Given the description of an element on the screen output the (x, y) to click on. 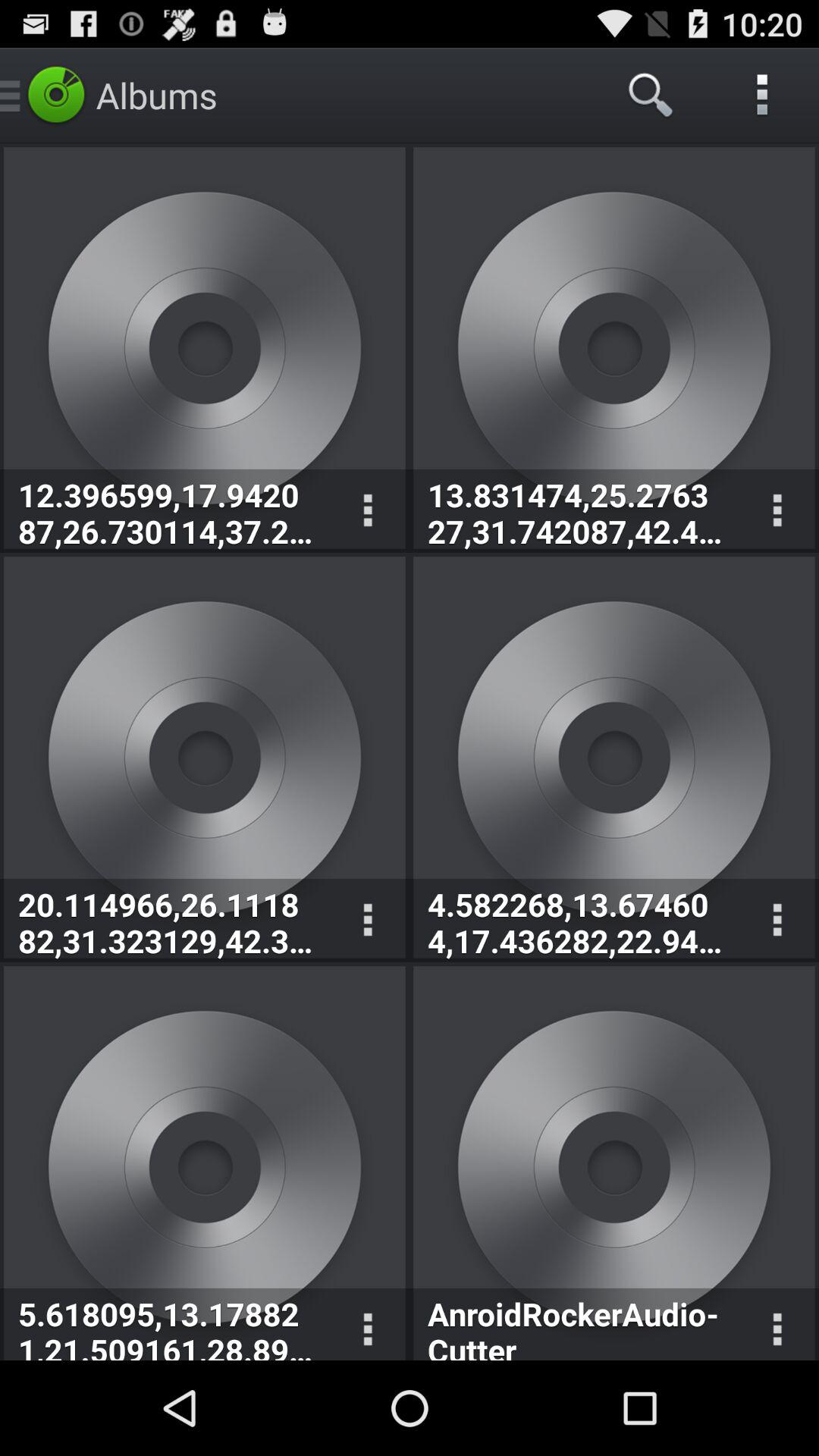
control the audio (777, 920)
